Given the description of an element on the screen output the (x, y) to click on. 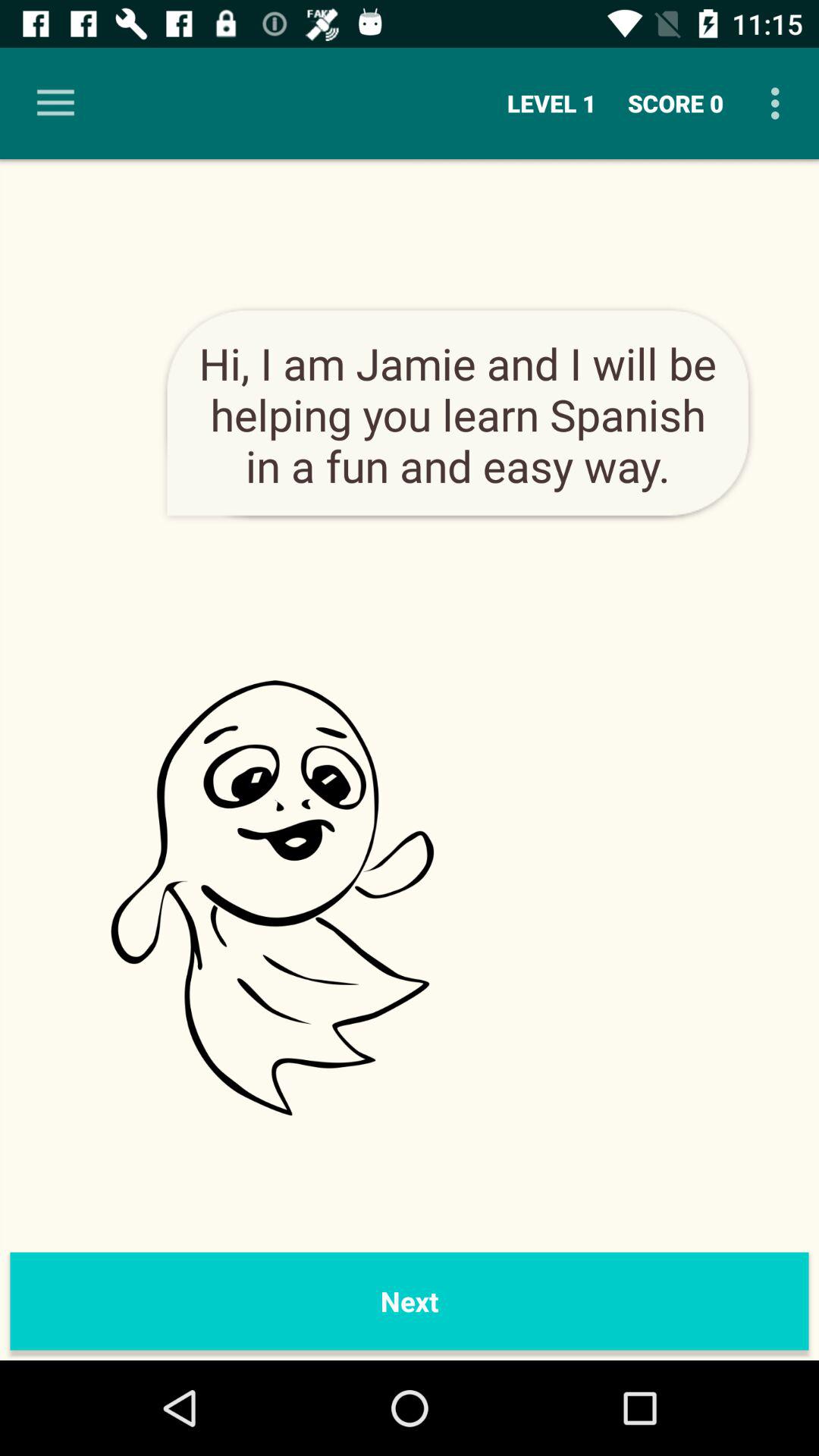
turn off the score 0 icon (675, 103)
